Given the description of an element on the screen output the (x, y) to click on. 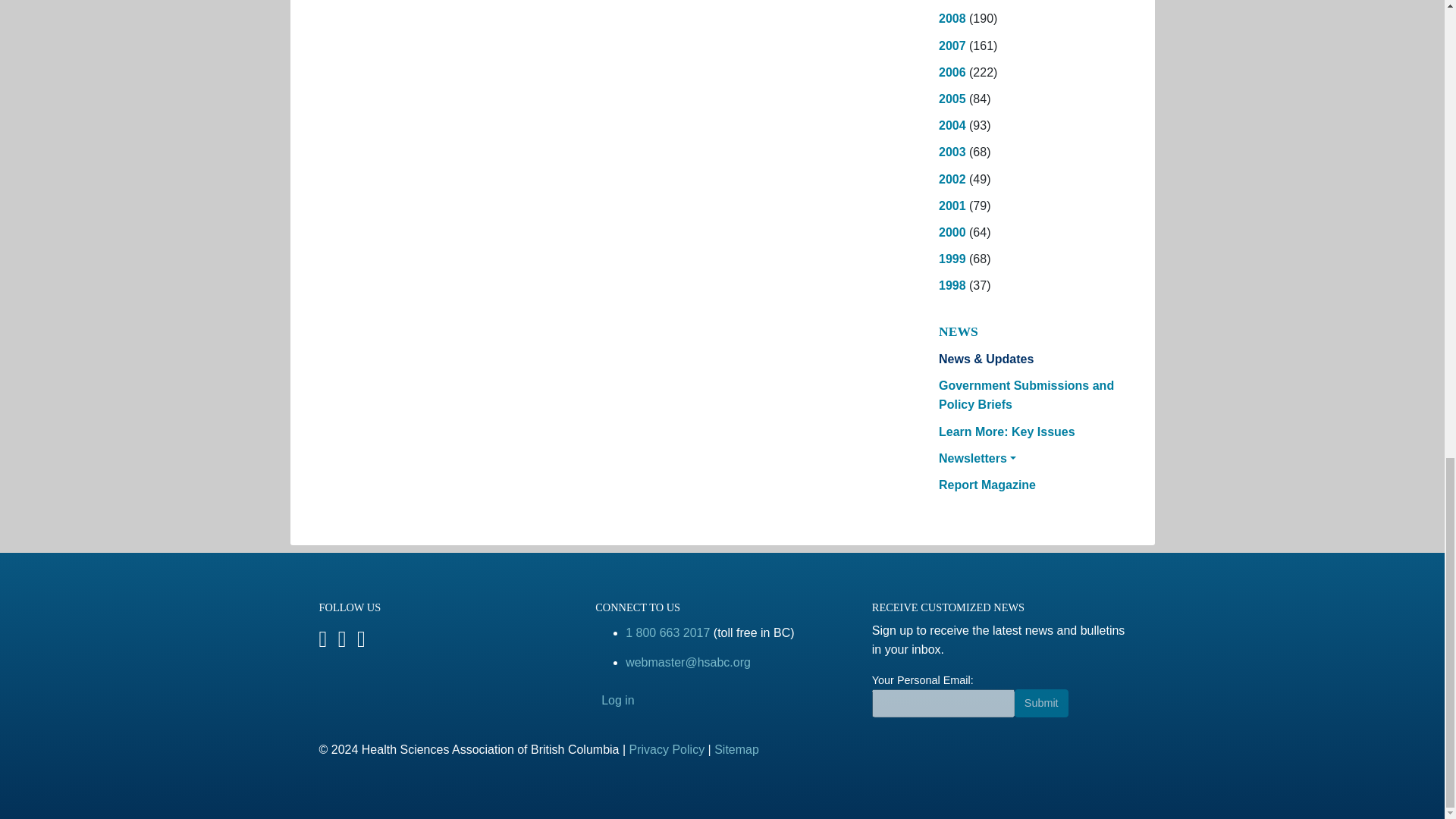
Telephone HSA (668, 632)
privacy policy (666, 748)
Site Map (736, 748)
Email Webmaster (688, 662)
